Given the description of an element on the screen output the (x, y) to click on. 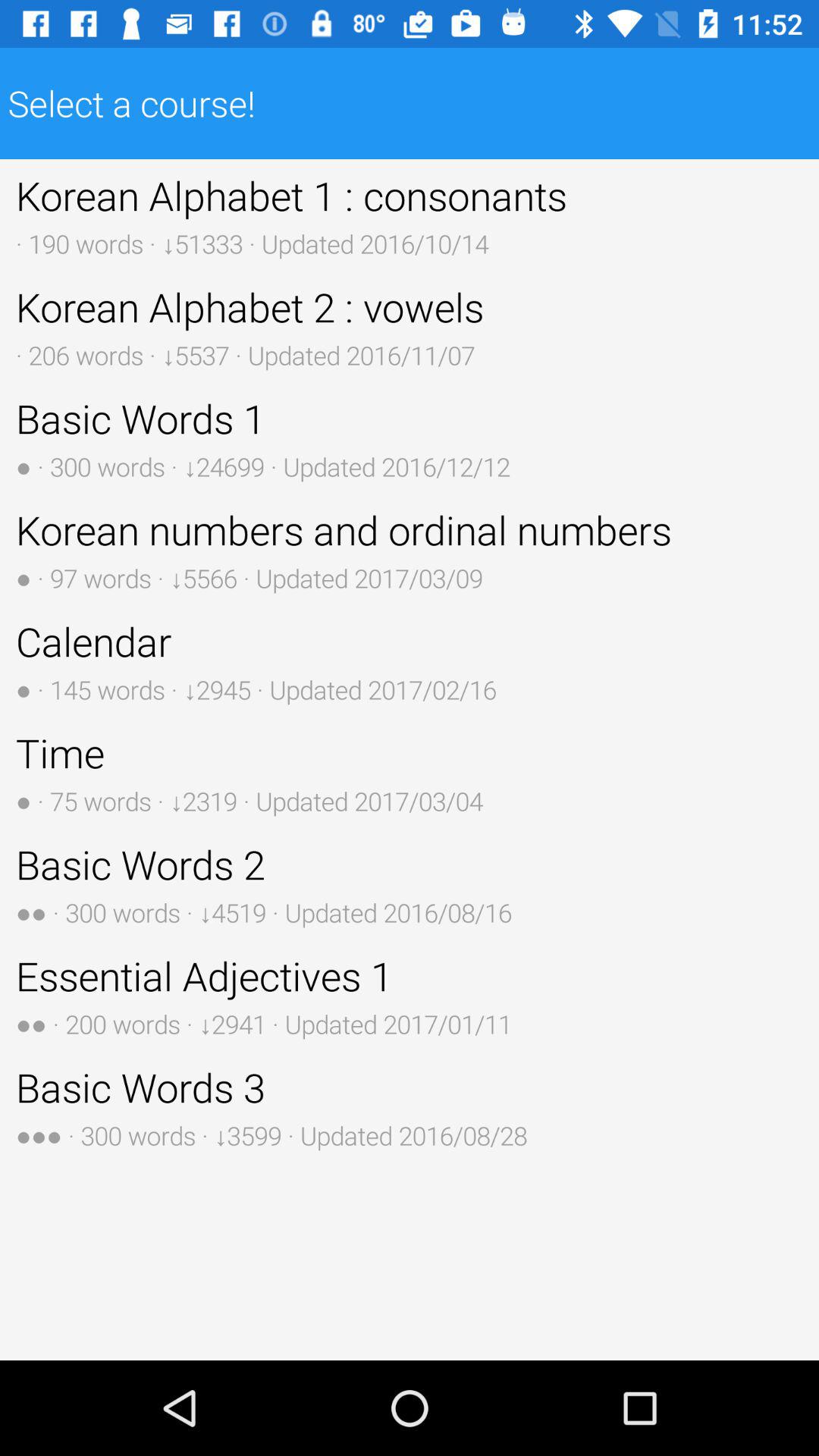
press essential adjectives 1 (409, 995)
